Given the description of an element on the screen output the (x, y) to click on. 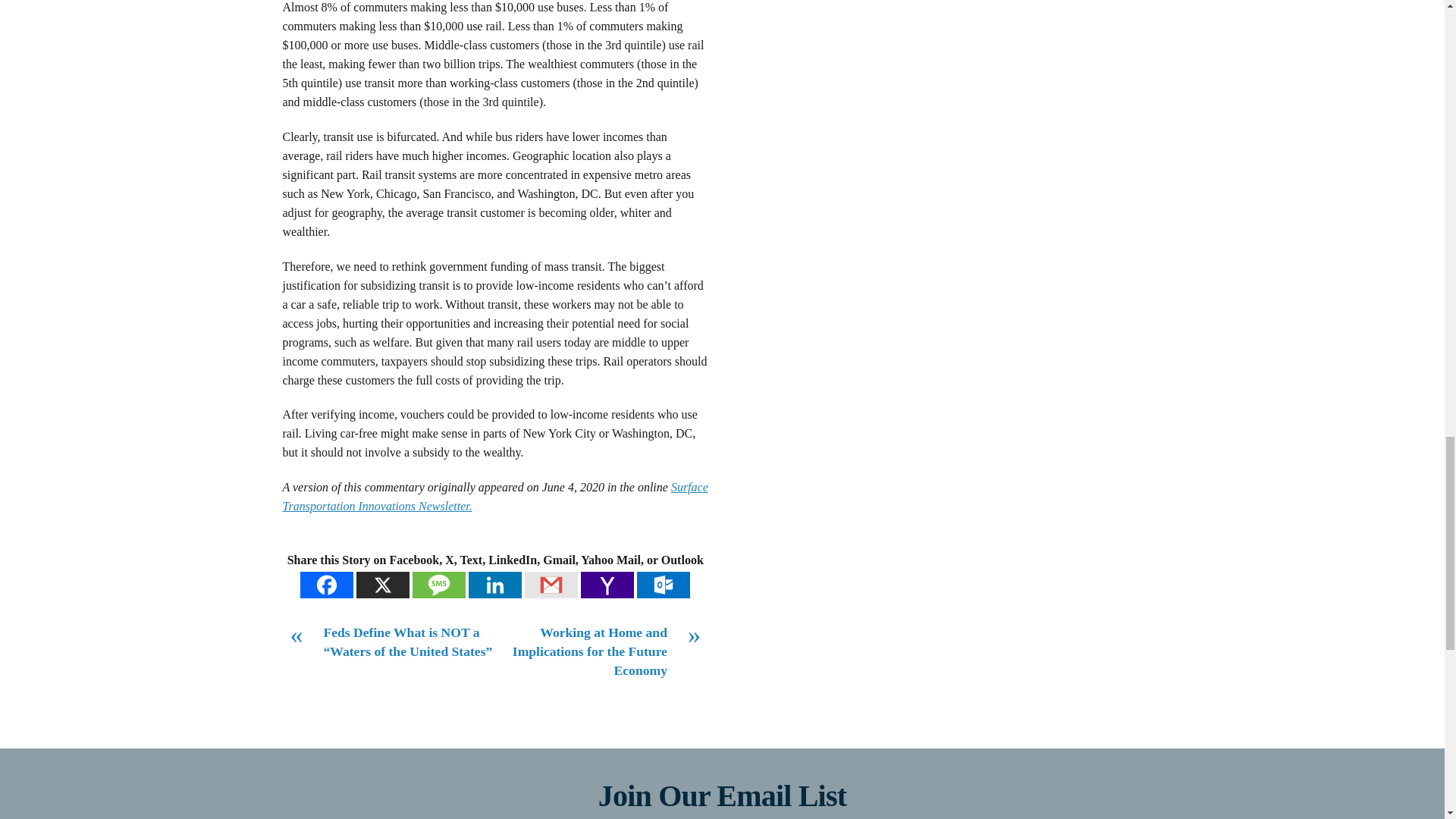
SMS (438, 584)
X (382, 584)
Surface Transportation Innovations Newsletter. (494, 496)
Facebook (326, 584)
